Given the description of an element on the screen output the (x, y) to click on. 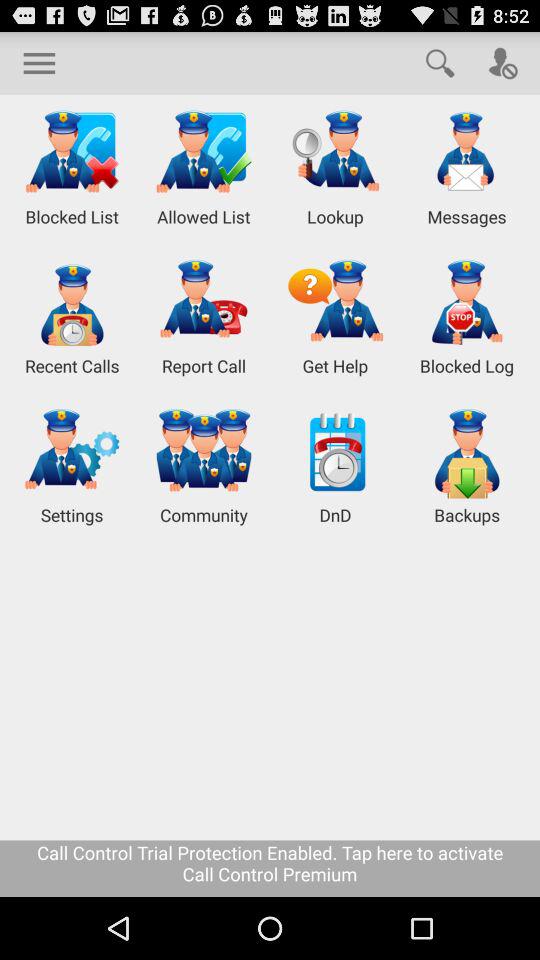
enter search item (439, 62)
